Given the description of an element on the screen output the (x, y) to click on. 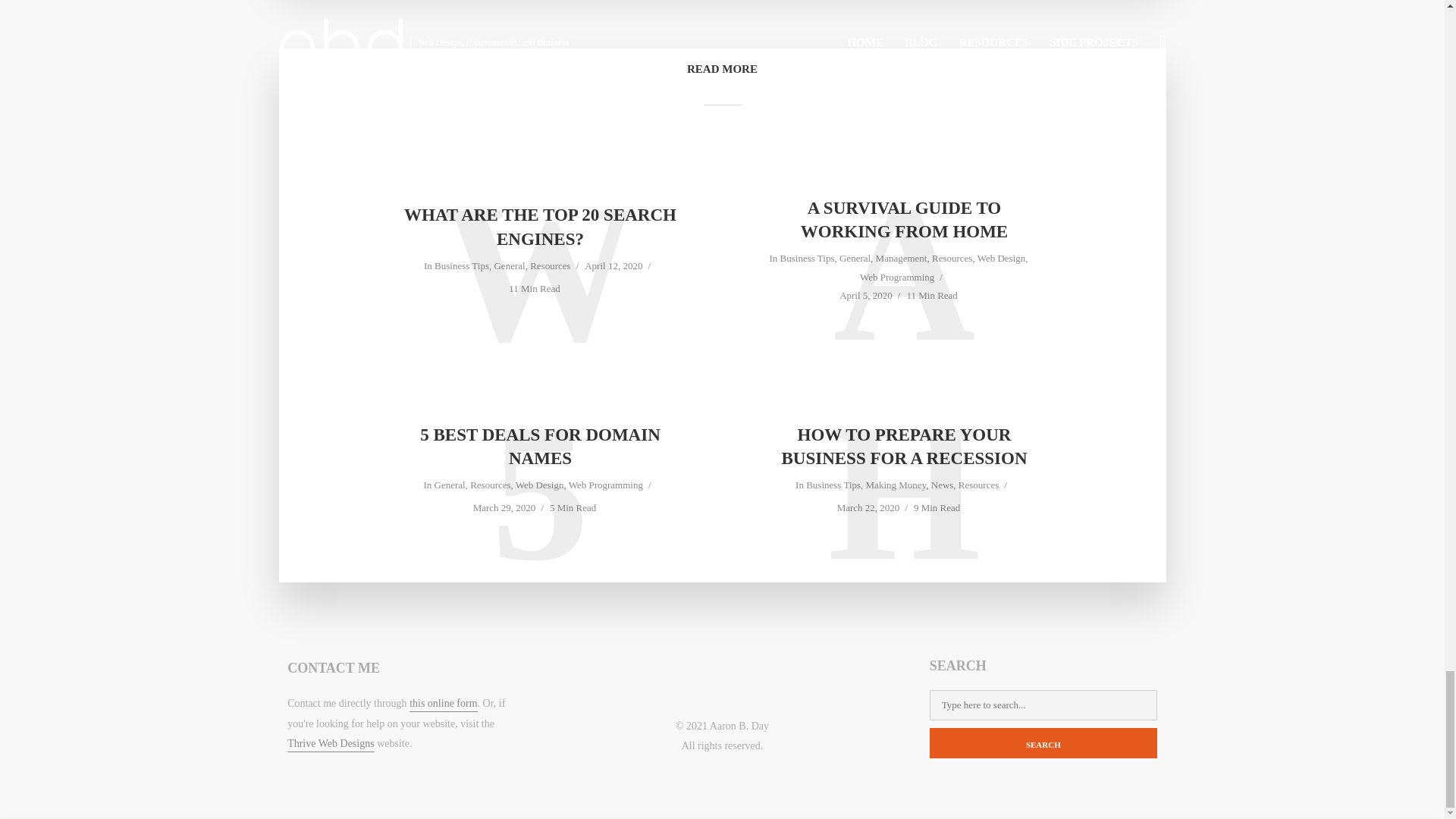
Web Programming (606, 486)
Web Design (1001, 259)
WHAT ARE THE TOP 20 SEARCH ENGINES? (540, 226)
Making Money (896, 486)
Resources (549, 267)
A SURVIVAL GUIDE TO WORKING FROM HOME (904, 219)
5 BEST DEALS FOR DOMAIN NAMES (540, 446)
General (508, 267)
Resources (951, 259)
Business Tips (833, 486)
News (942, 486)
Web Programming (897, 278)
HOW TO PREPARE YOUR BUSINESS FOR A RECESSION (904, 446)
Resources (490, 486)
Business Tips (461, 267)
